Given the description of an element on the screen output the (x, y) to click on. 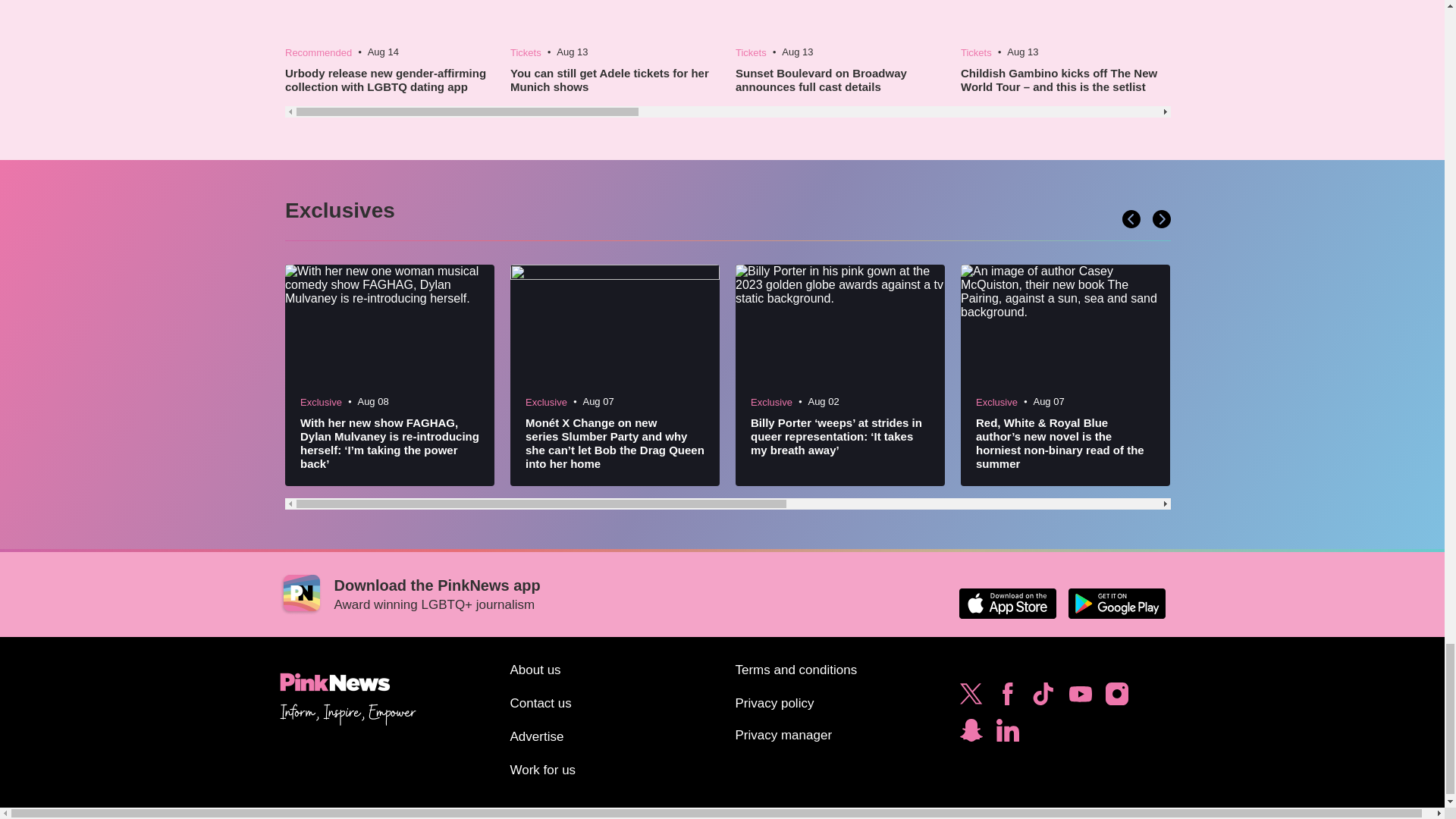
Follow PinkNews on TikTok (1042, 697)
Subscribe to PinkNews on YouTube (1079, 697)
Subscribe to PinkNews on Snapchat (970, 733)
Follow PinkNews on LinkedIn (1007, 733)
Download the PinkNews app on the Apple App Store (1006, 603)
Follow PinkNews on Instagram (1116, 697)
Download the PinkNews app on Google Play (1115, 603)
Follow PinkNews on Twitter (970, 697)
